Given the description of an element on the screen output the (x, y) to click on. 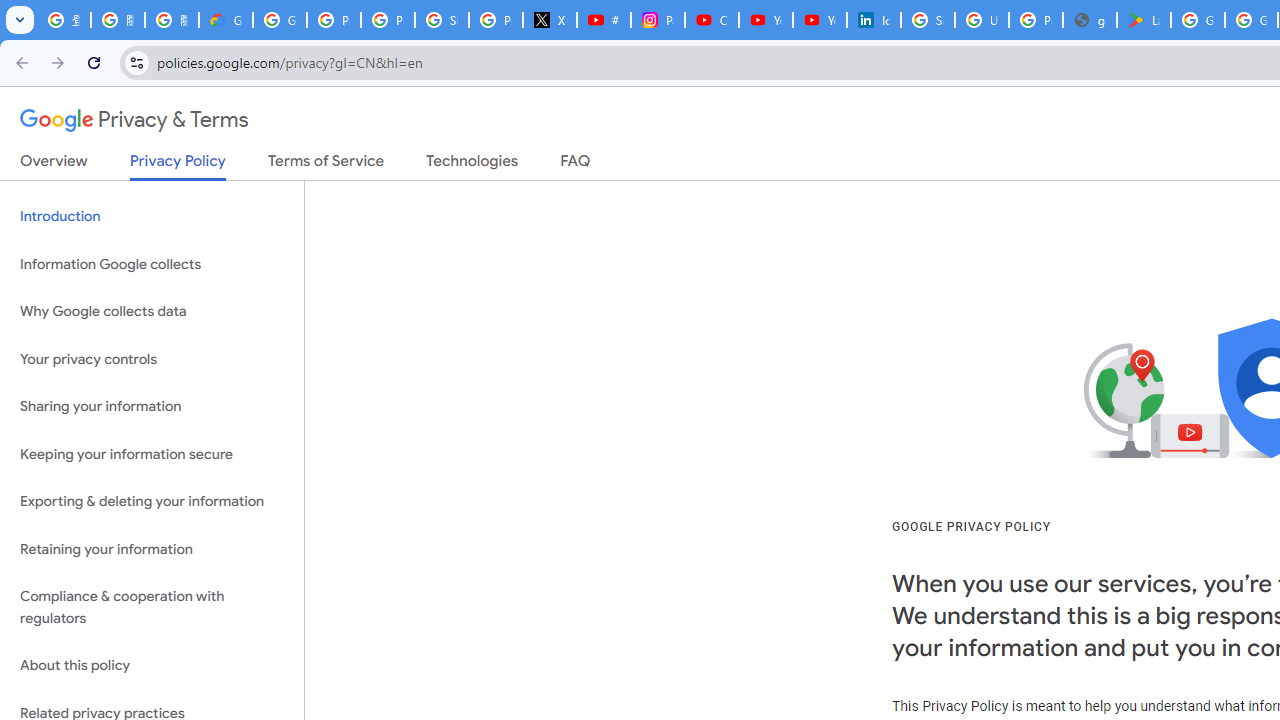
#nbabasketballhighlights - YouTube (604, 20)
X (550, 20)
Last Shelter: Survival - Apps on Google Play (1144, 20)
Google Cloud Privacy Notice (225, 20)
